Given the description of an element on the screen output the (x, y) to click on. 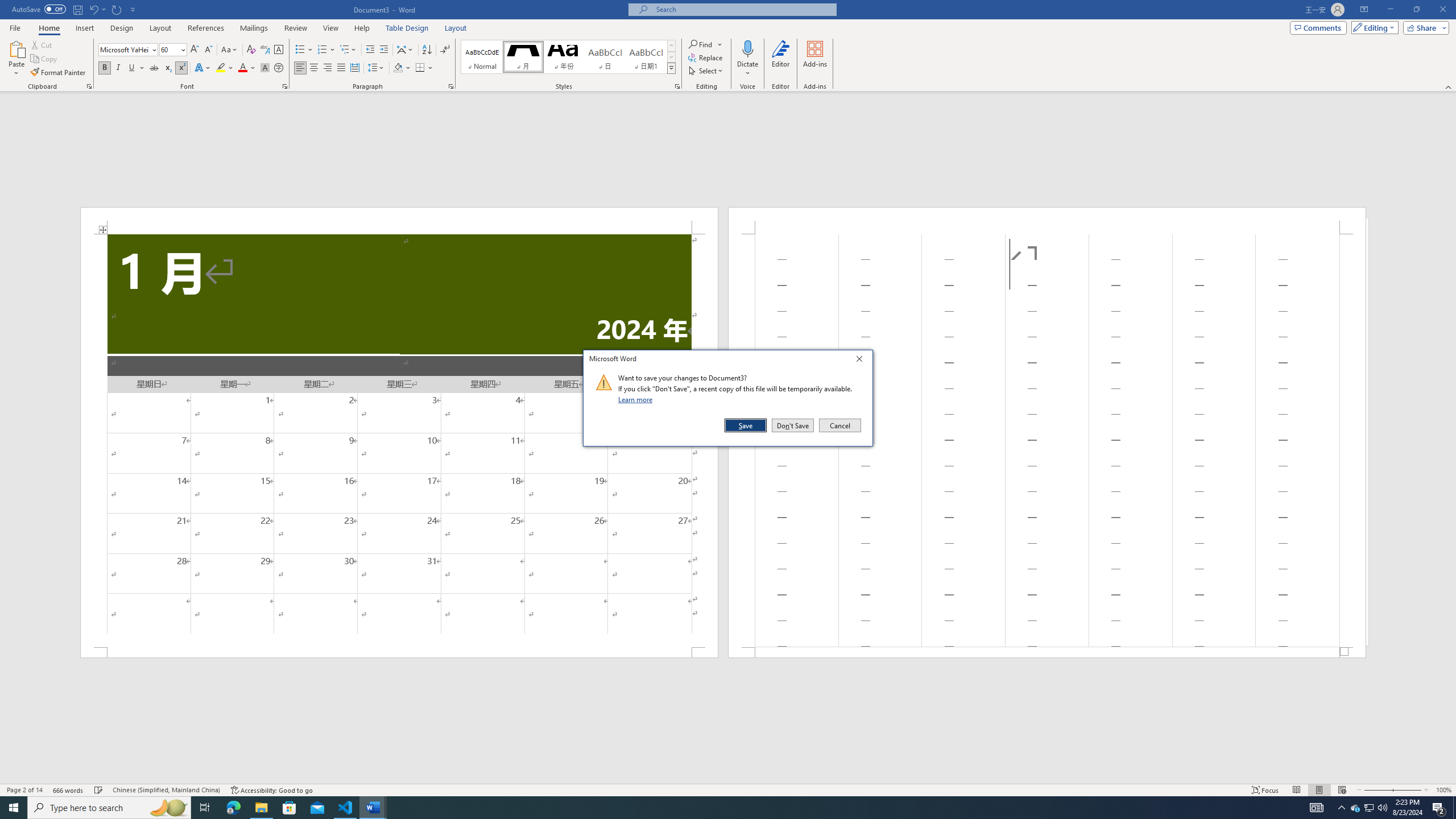
Align Left (300, 67)
Header -Section 1- (1046, 220)
Character Shading (264, 67)
Increase Indent (383, 49)
Styles (670, 67)
Cut (42, 44)
Undo Superscript (96, 9)
Character Border (278, 49)
